Given the description of an element on the screen output the (x, y) to click on. 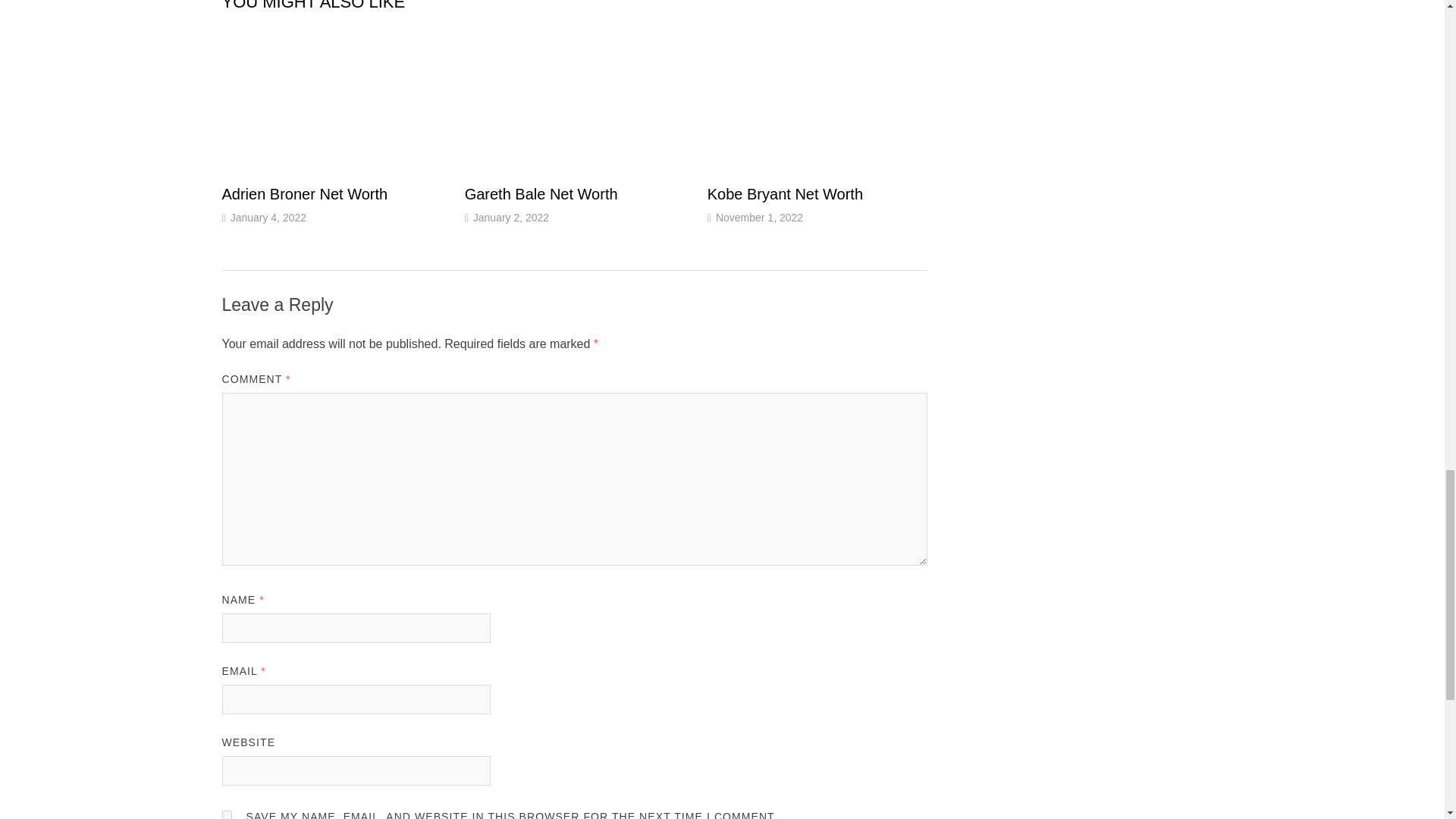
Kobe Bryant Net Worth (785, 193)
Adrien Broner Net Worth (304, 193)
Gareth Bale Net Worth (540, 193)
November 1, 2022 (759, 217)
Gareth Bale Net Worth (540, 193)
Kobe Bryant Net Worth (785, 193)
yes (226, 814)
January 4, 2022 (267, 217)
January 2, 2022 (510, 217)
